Given the description of an element on the screen output the (x, y) to click on. 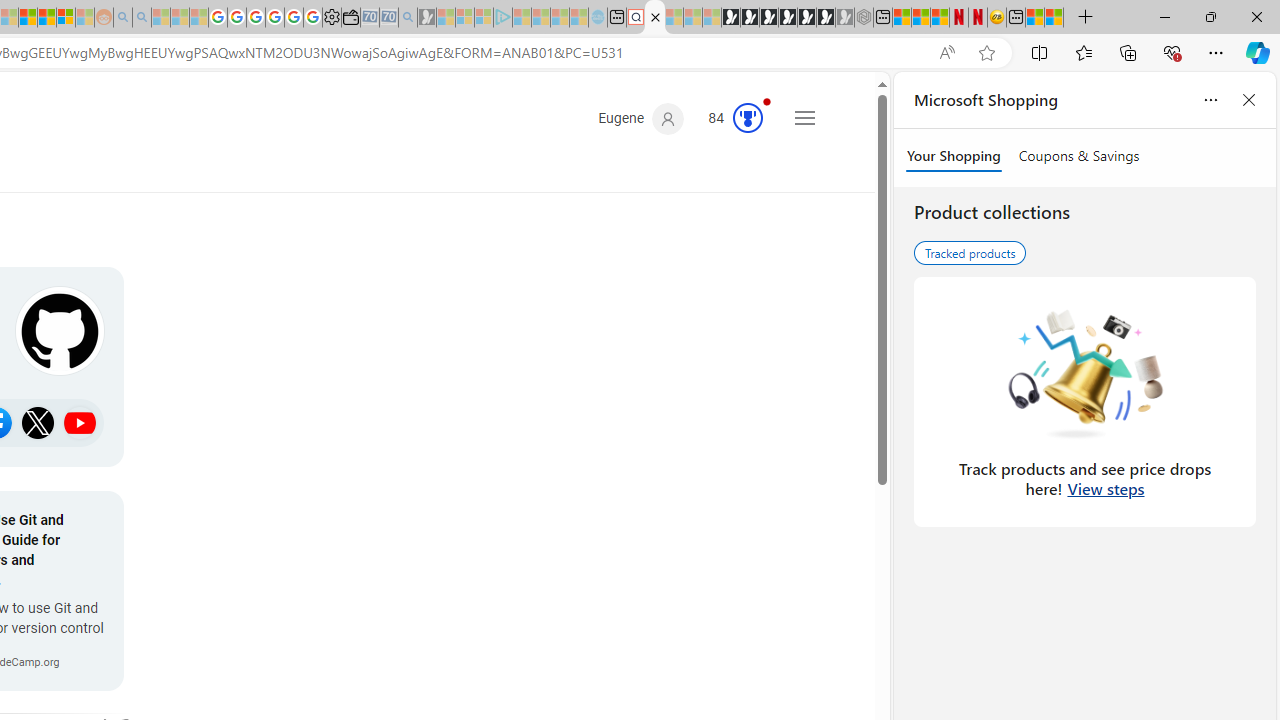
Animation (766, 101)
Class: b_sitlk (80, 422)
